Given the description of an element on the screen output the (x, y) to click on. 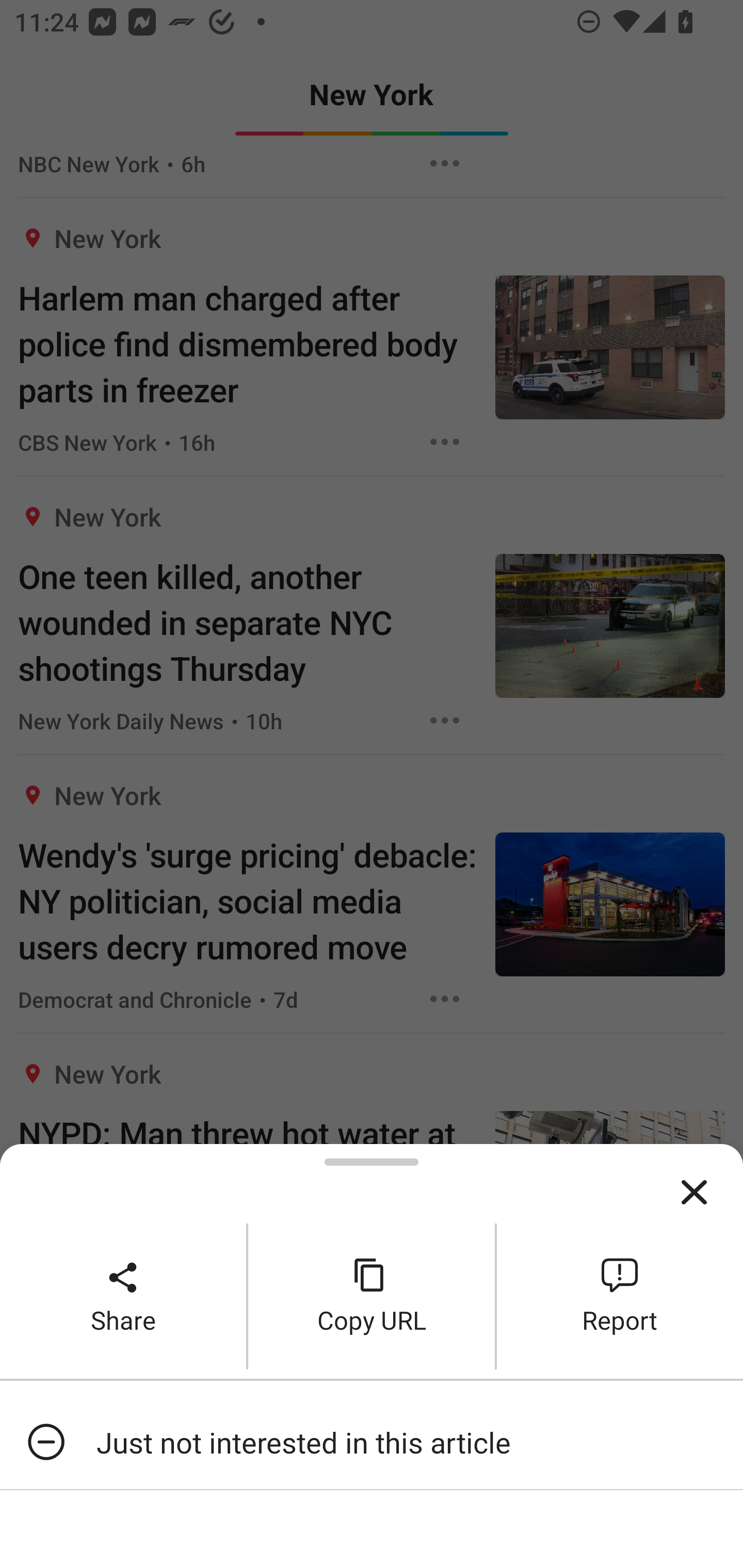
Close (694, 1192)
Share (122, 1295)
Copy URL (371, 1295)
Report (620, 1295)
Just not interested in this article (371, 1442)
